Given the description of an element on the screen output the (x, y) to click on. 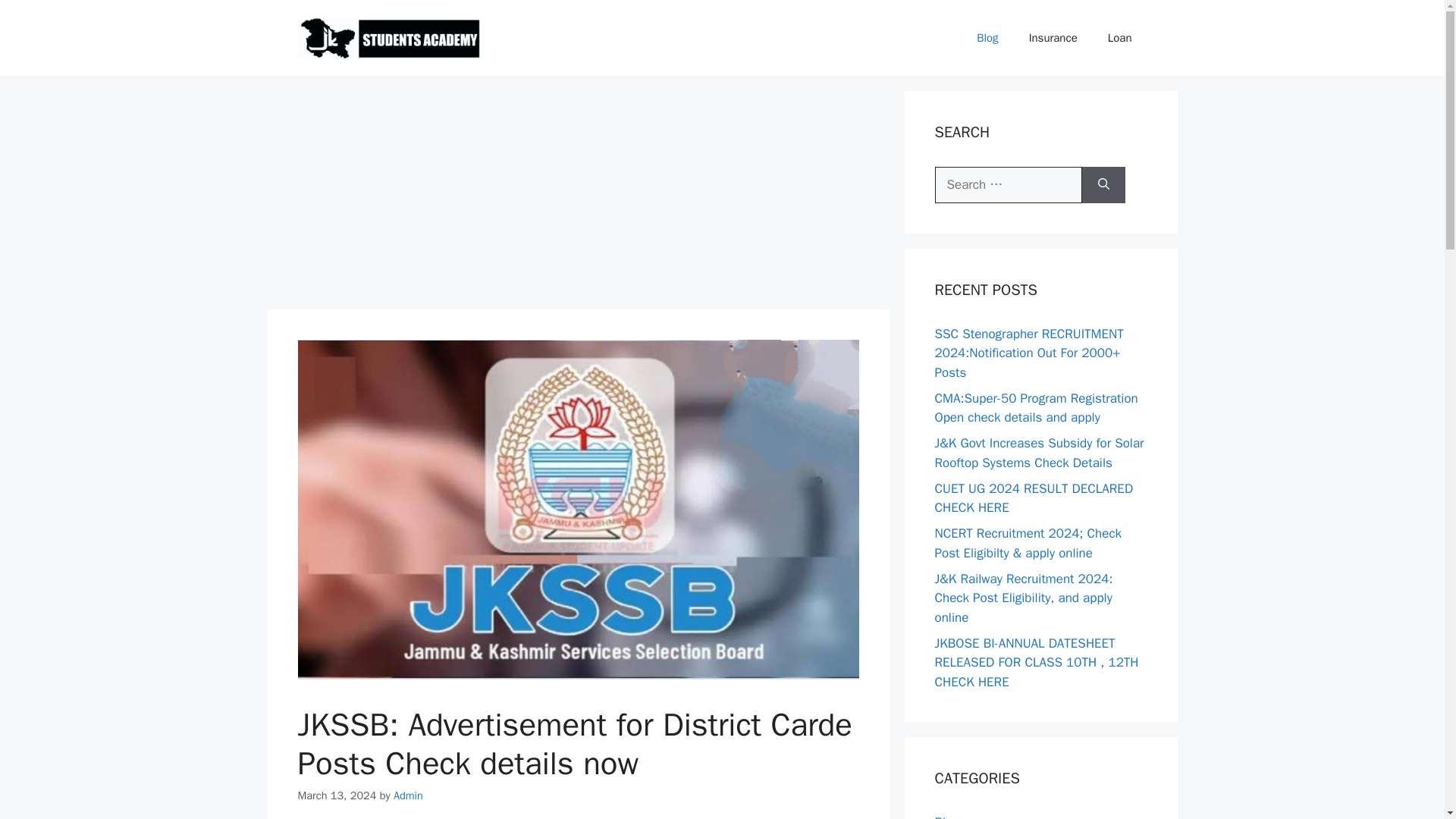
Blog (946, 816)
CUET UG 2024 RESULT DECLARED CHECK HERE (1033, 498)
Admin (408, 795)
Blog (986, 37)
Advertisement (577, 196)
Search for: (1007, 185)
Insurance (1053, 37)
Loan (1120, 37)
View all posts by Admin (408, 795)
